Given the description of an element on the screen output the (x, y) to click on. 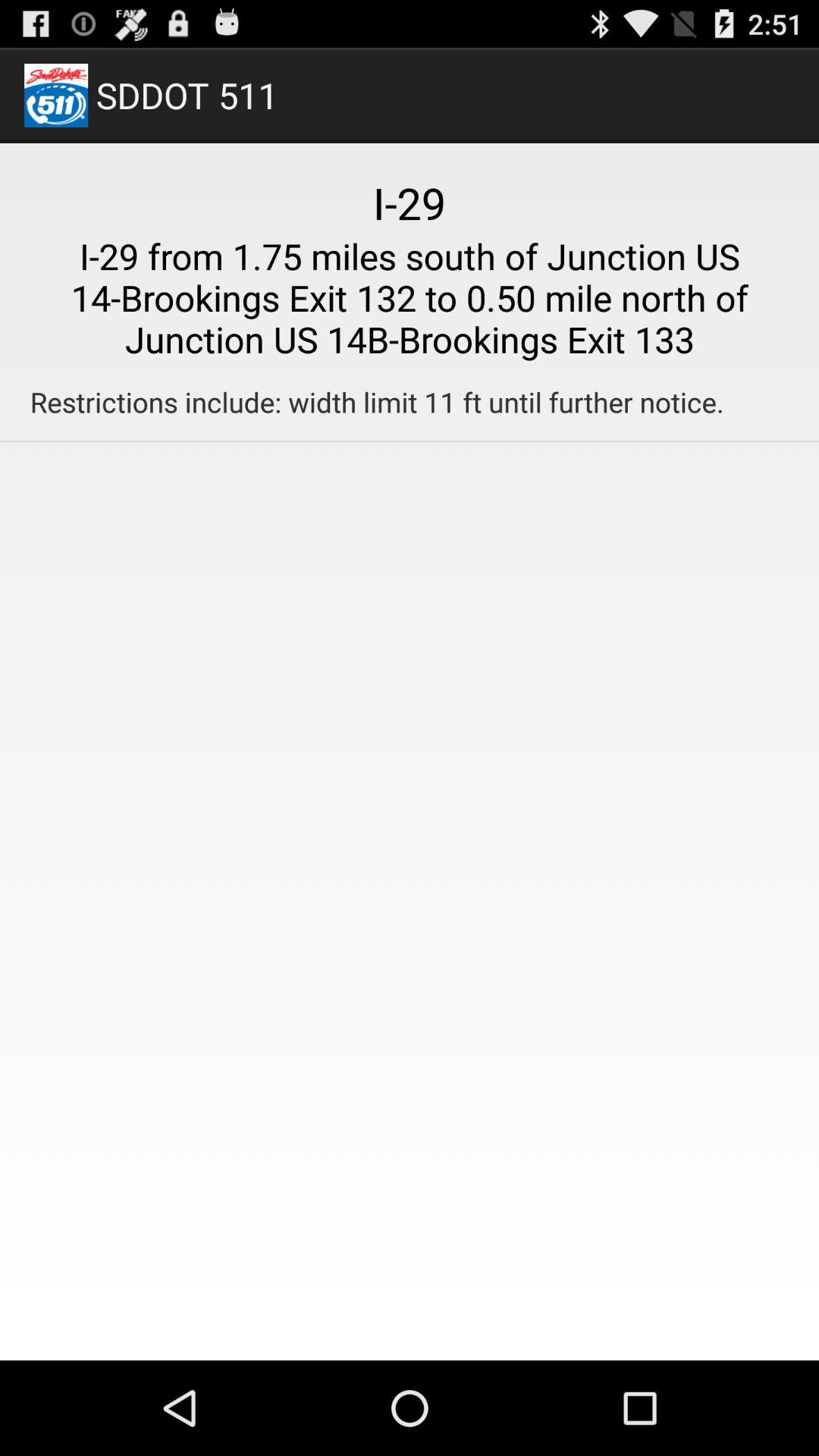
open restrictions include width (377, 401)
